Given the description of an element on the screen output the (x, y) to click on. 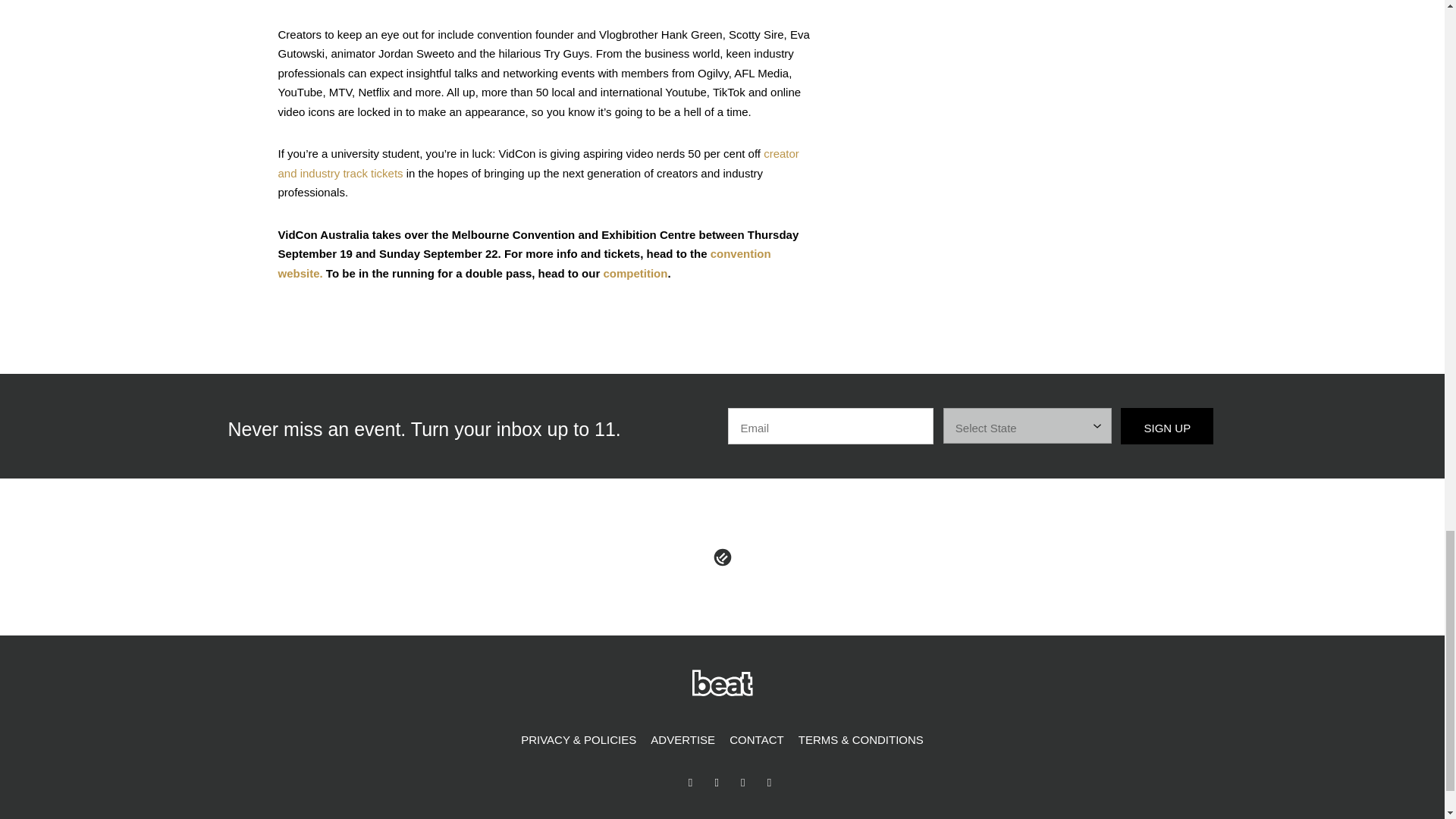
ADVERTISE (682, 740)
convention website. (524, 263)
competition (634, 273)
3rd party ad content (1052, 61)
SIGN UP (1166, 425)
CONTACT (756, 740)
creator and industry track tickets (537, 163)
